Given the description of an element on the screen output the (x, y) to click on. 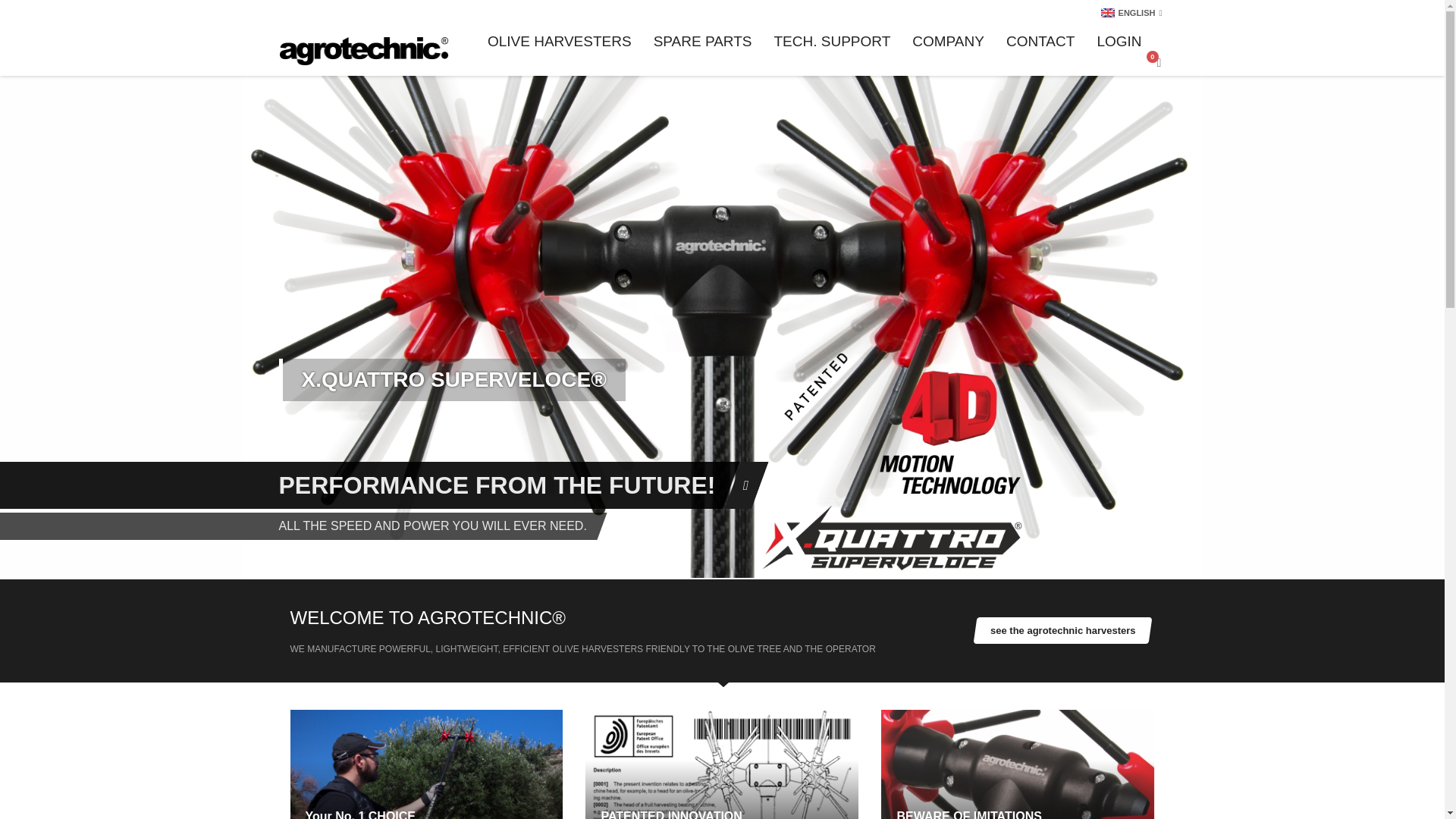
SPARE PARTS (703, 41)
COMPANY (947, 41)
see the agrotechnic harvesters (1062, 630)
TECH. SUPPORT (831, 41)
agrotechnic olive harvester xquattro supervelove (425, 764)
agrotechnic olive harvesting equipment (363, 51)
View your shopping cart (1157, 62)
LOGIN (1118, 41)
ENGLISH (1133, 12)
OLIVE HARVESTERS (559, 41)
CONTACT (1040, 41)
agrotechnic olive harvester xquattro supervelove original (1017, 764)
